Given the description of an element on the screen output the (x, y) to click on. 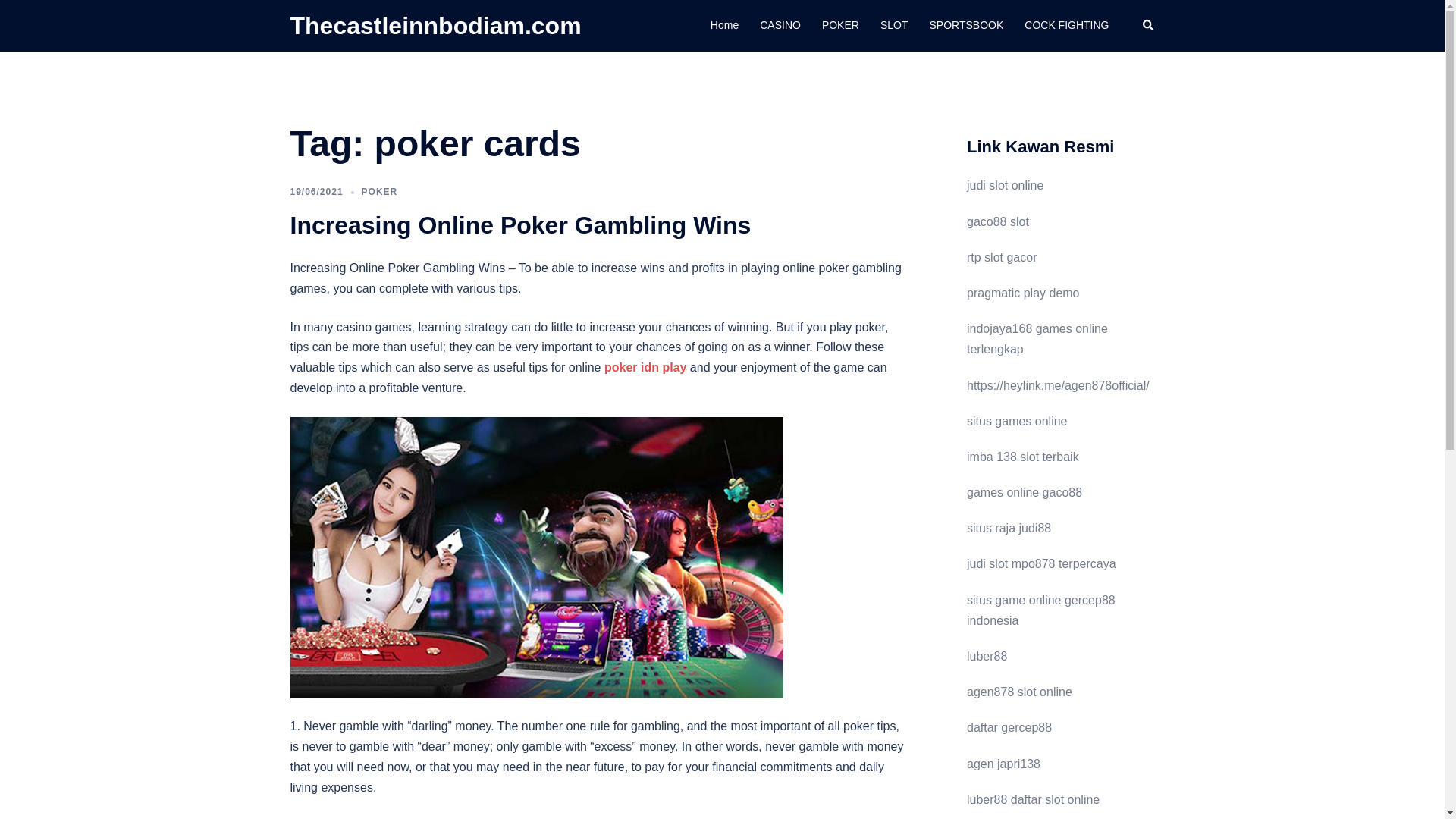
pragmatic play demo (1023, 292)
judi slot mpo878 terpercaya (1041, 563)
indojaya168 games online terlengkap (1037, 338)
rtp slot gacor (1001, 256)
poker idn play (644, 367)
judi slot online (1004, 185)
situs raja judi88 (1008, 527)
Thecastleinnbodiam.com (434, 25)
gaco88 slot (997, 221)
Search (1147, 25)
situs games online (1016, 420)
SLOT (894, 25)
Home (724, 25)
COCK FIGHTING (1066, 25)
imba 138 slot terbaik (1022, 456)
